Given the description of an element on the screen output the (x, y) to click on. 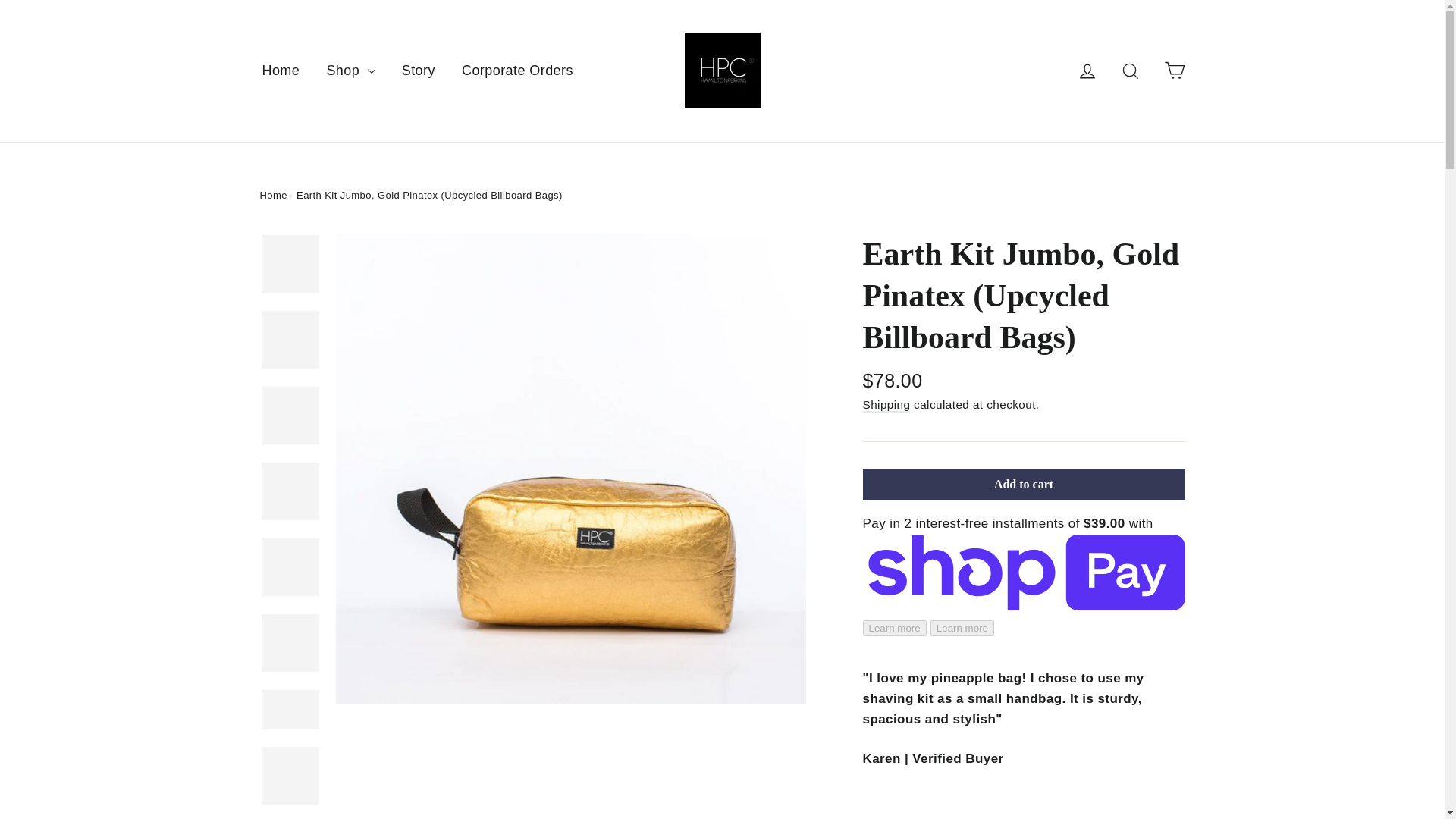
Home (280, 70)
Log in (1086, 70)
Story (418, 70)
Corporate Orders (517, 70)
Back to the frontpage (272, 194)
Shop (349, 70)
